Given the description of an element on the screen output the (x, y) to click on. 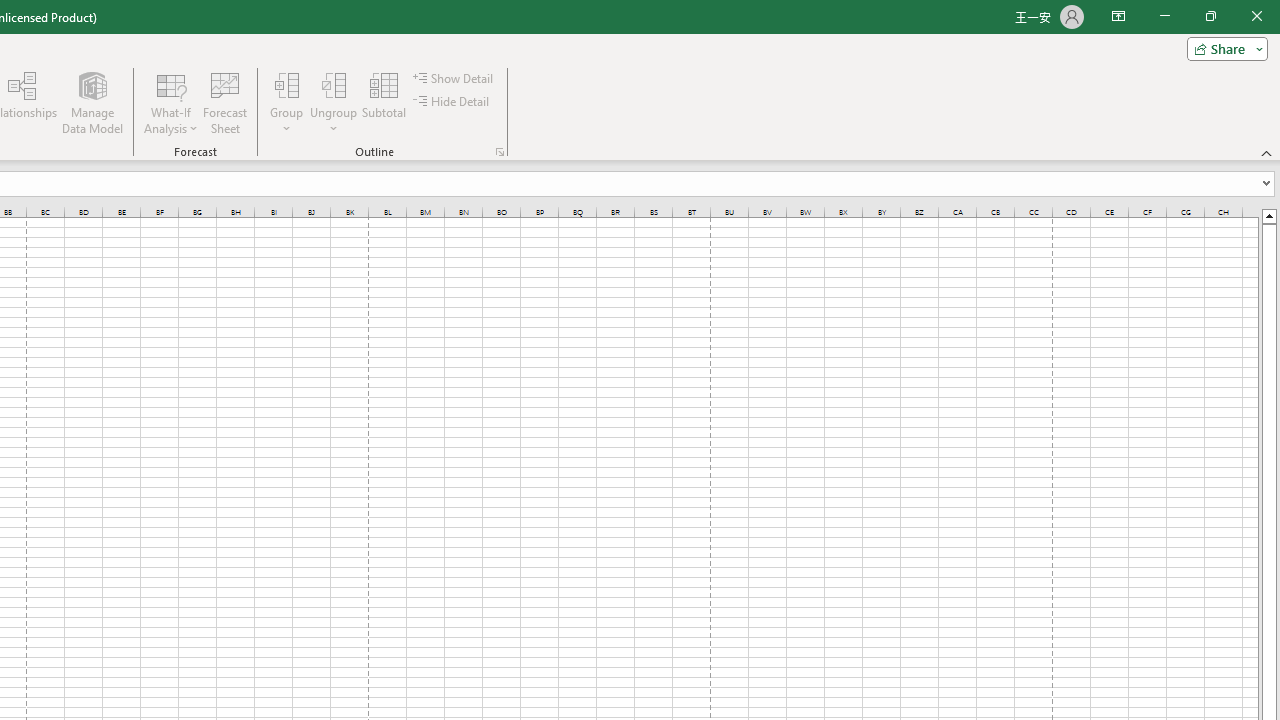
More Options (333, 121)
Group and Outline Settings (499, 151)
Group... (287, 102)
Minimize (1164, 16)
Hide Detail (452, 101)
